Given the description of an element on the screen output the (x, y) to click on. 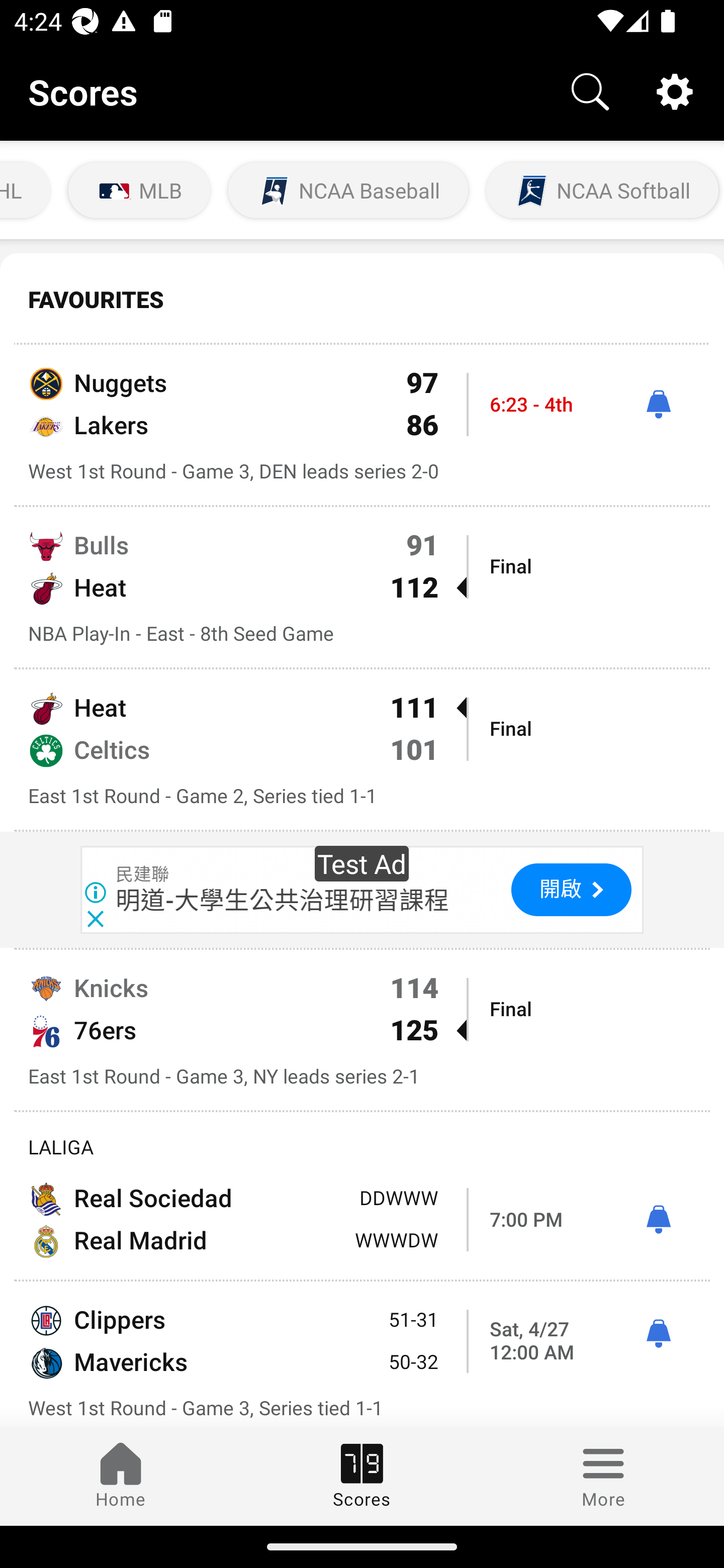
Search (590, 90)
Settings (674, 90)
MLB (139, 190)
NCAA Baseball (347, 190)
NCAA Softball (601, 190)
FAVOURITES (362, 299)
ì (658, 404)
民建聯 (142, 874)
開啟 (570, 889)
明道-大學生公共治理研習課程 (282, 899)
ì (658, 1219)
ì (658, 1334)
